Given the description of an element on the screen output the (x, y) to click on. 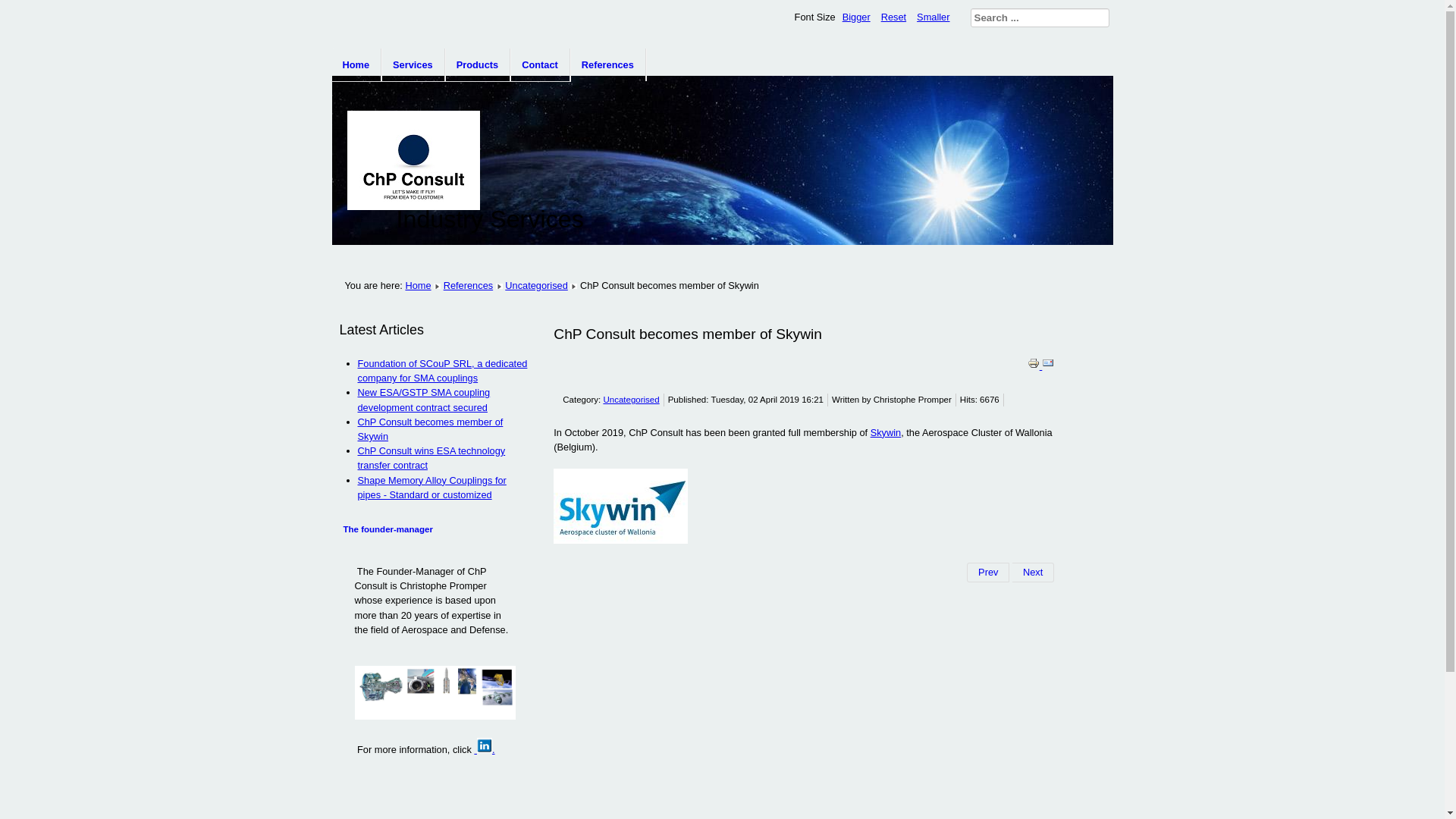
Prev Element type: text (987, 572)
Email this link to a friend Element type: hover (1047, 365)
Services Element type: text (413, 64)
Contact Element type: text (540, 64)
Skywin Element type: text (885, 432)
ChP Consult becomes member of Skywin Element type: text (430, 429)
Uncategorised Element type: text (536, 285)
 . Element type: text (483, 749)
Print article < ChP Consult becomes member of Skywin > Element type: hover (1034, 365)
New ESA/GSTP SMA coupling development contract secured Element type: text (423, 399)
References Element type: text (608, 64)
Products Element type: text (477, 64)
Reset Element type: text (893, 16)
ChP Consult wins ESA technology transfer contract Element type: text (431, 457)
The founder-manager Element type: text (387, 529)
Bigger Element type: text (856, 16)
Next Element type: text (1033, 572)
Smaller Element type: text (933, 16)
Uncategorised Element type: text (630, 399)
Home Element type: text (355, 64)
Home Element type: text (417, 285)
References Element type: text (467, 285)
